Given the description of an element on the screen output the (x, y) to click on. 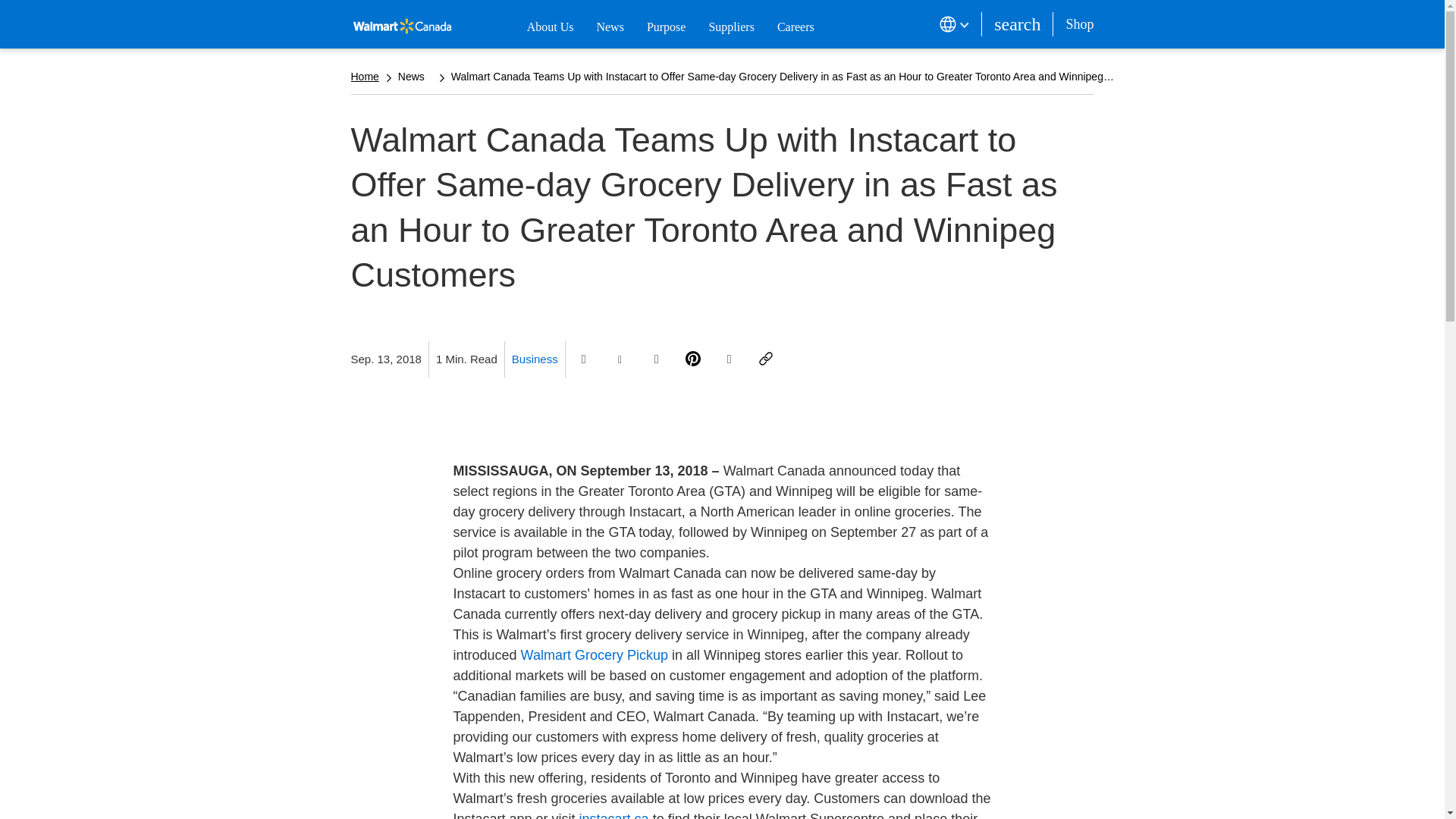
Suppliers (730, 27)
Shop (1072, 24)
About Us (550, 27)
Purpose (665, 27)
Copy link to clipboard (765, 359)
Careers (795, 27)
Share With Pinterest (692, 359)
News (609, 27)
